Given the description of an element on the screen output the (x, y) to click on. 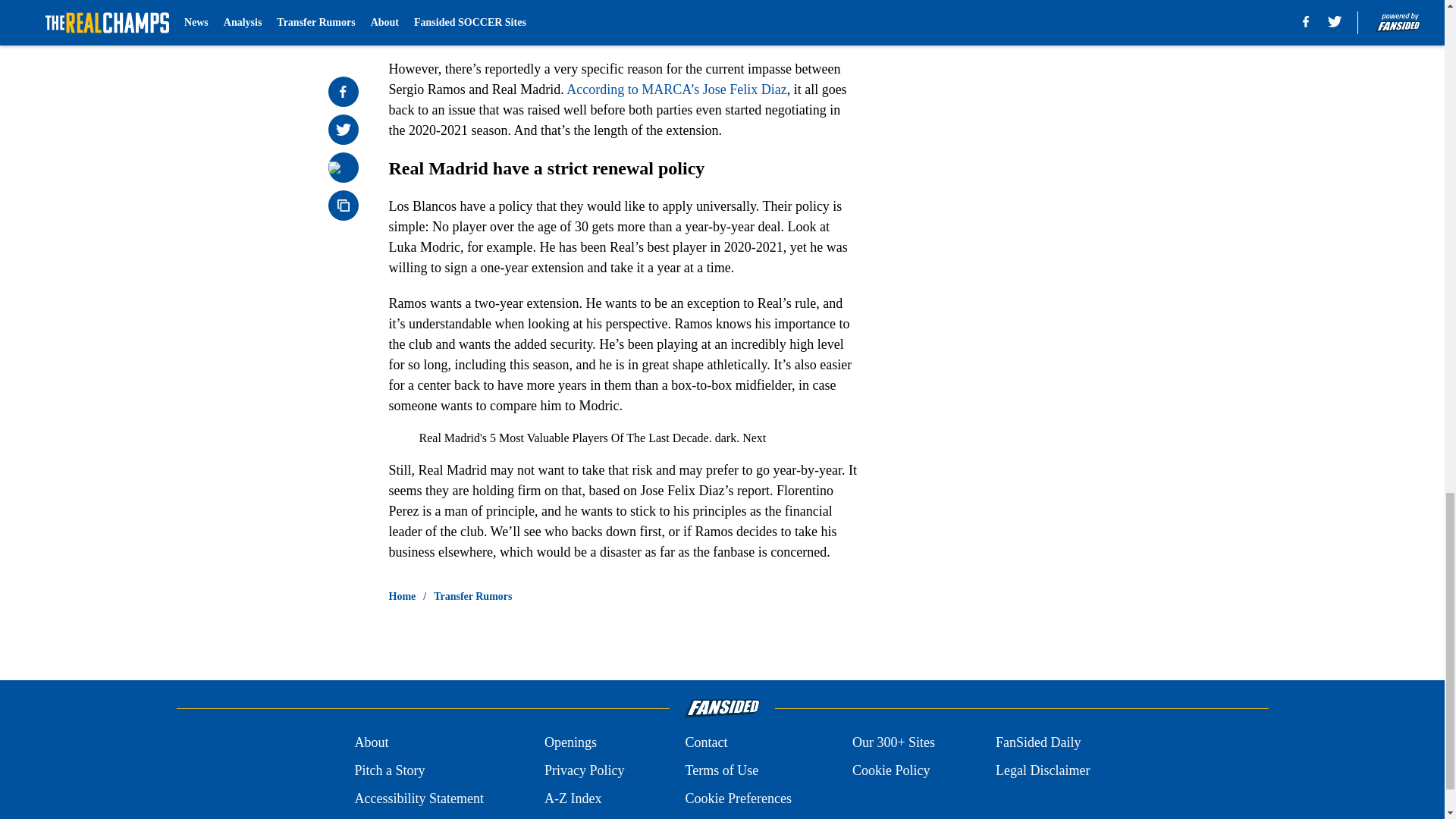
Privacy Policy (584, 770)
extending him must be a priority. (599, 10)
Legal Disclaimer (1042, 770)
Home (401, 596)
Openings (570, 742)
Accessibility Statement (418, 798)
Cookie Policy (890, 770)
Transfer Rumors (472, 596)
Cookie Preferences (737, 798)
A-Z Index (572, 798)
